Given the description of an element on the screen output the (x, y) to click on. 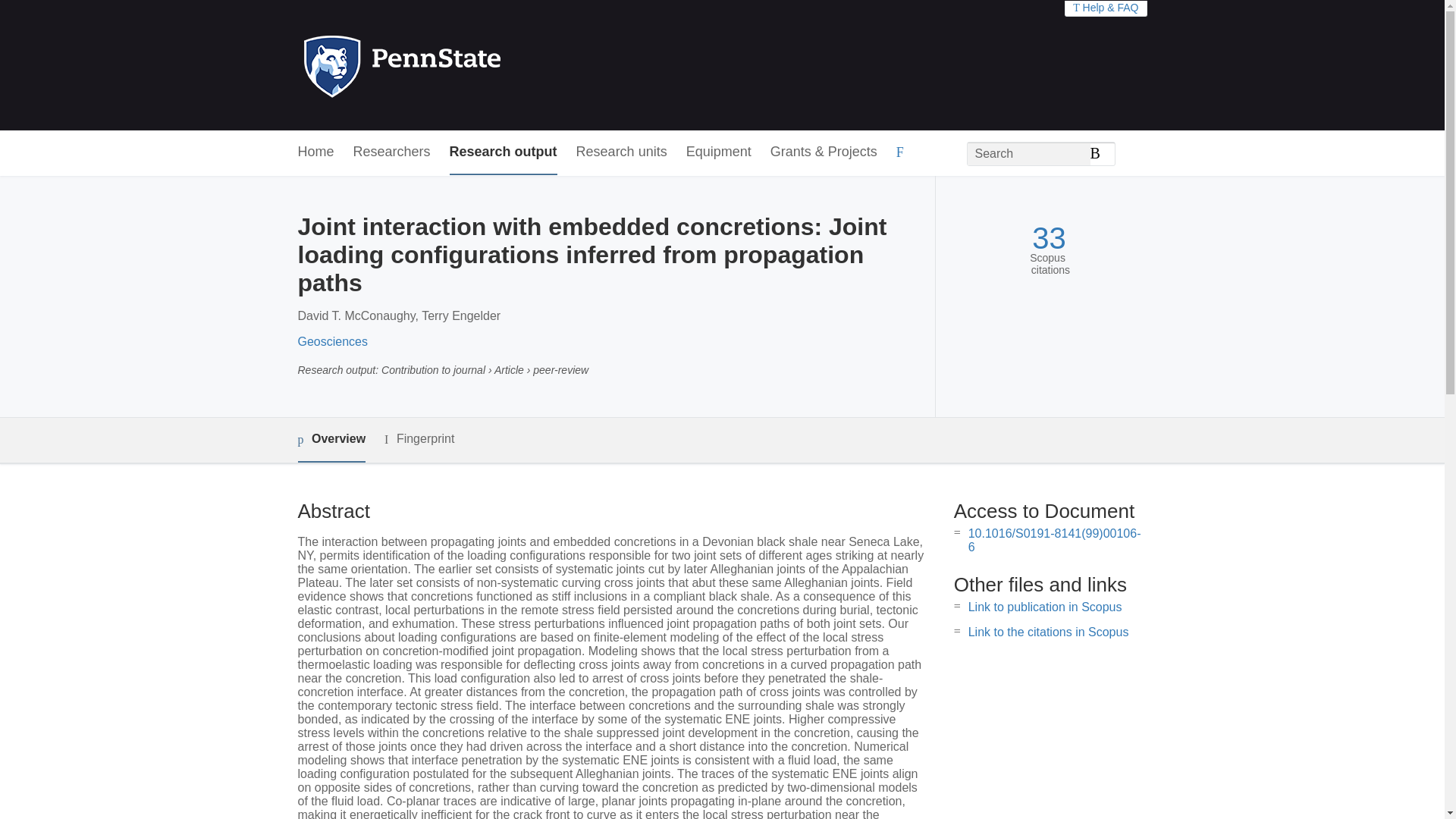
Research output (503, 152)
Penn State Home (467, 65)
Link to publication in Scopus (1045, 606)
Link to the citations in Scopus (1048, 631)
Researchers (391, 152)
Research units (621, 152)
Overview (331, 439)
Geosciences (332, 341)
Fingerprint (419, 439)
Equipment (718, 152)
33 (1048, 238)
